Given the description of an element on the screen output the (x, y) to click on. 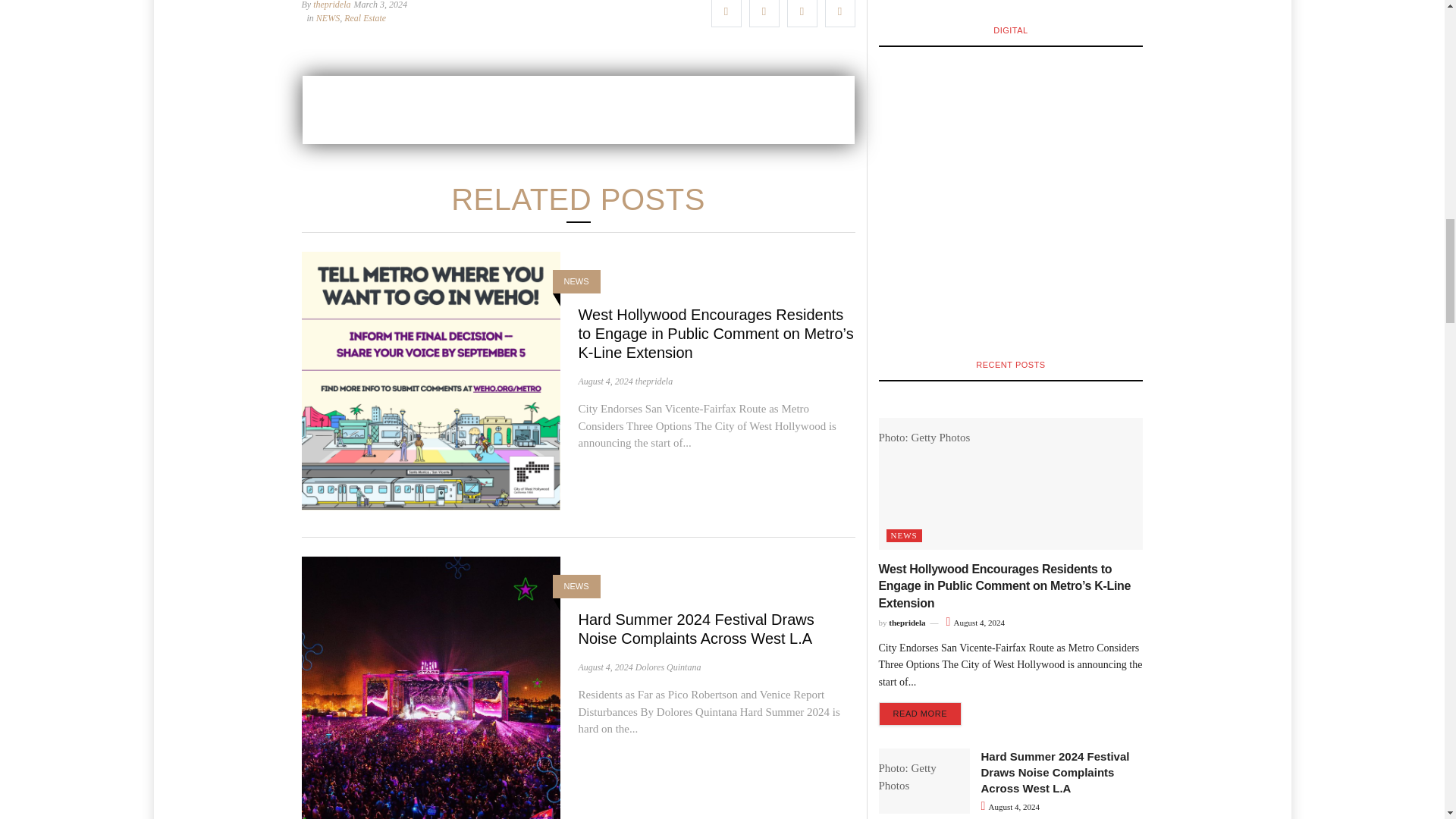
Real Estate (364, 18)
thepridela (331, 4)
Posts by thepridela (653, 380)
NEWS (327, 18)
Posts by thepridela (331, 4)
3rd party ad content (577, 110)
Posts by Dolores Quintana (667, 666)
